Given the description of an element on the screen output the (x, y) to click on. 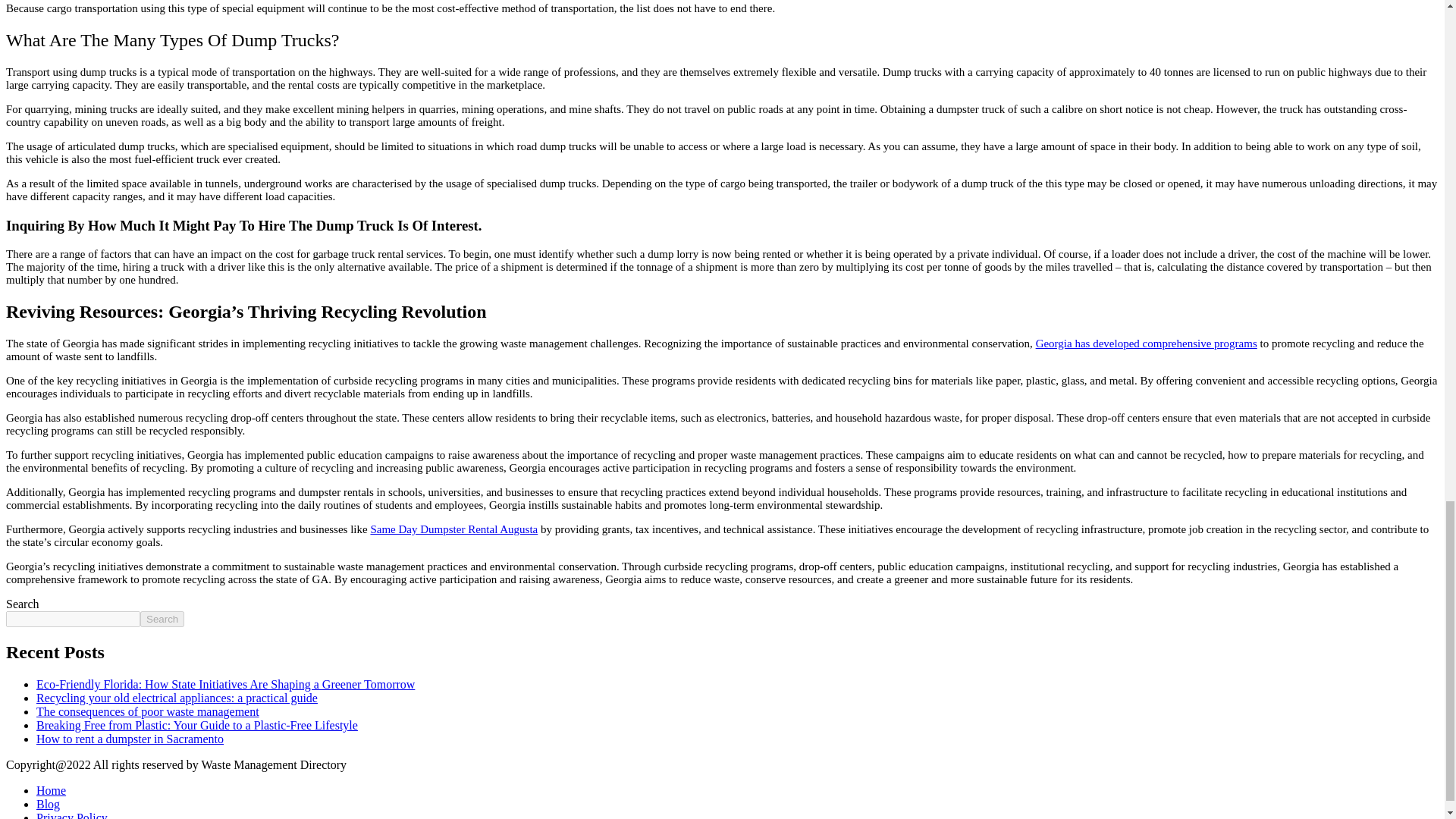
The consequences of poor waste management (147, 711)
Search (161, 618)
Georgia has developed comprehensive programs (1146, 343)
Home (50, 789)
Same Day Dumpster Rental Augusta (453, 529)
How to rent a dumpster in Sacramento (130, 738)
Blog (47, 803)
Recycling your old electrical appliances: a practical guide (176, 697)
